Given the description of an element on the screen output the (x, y) to click on. 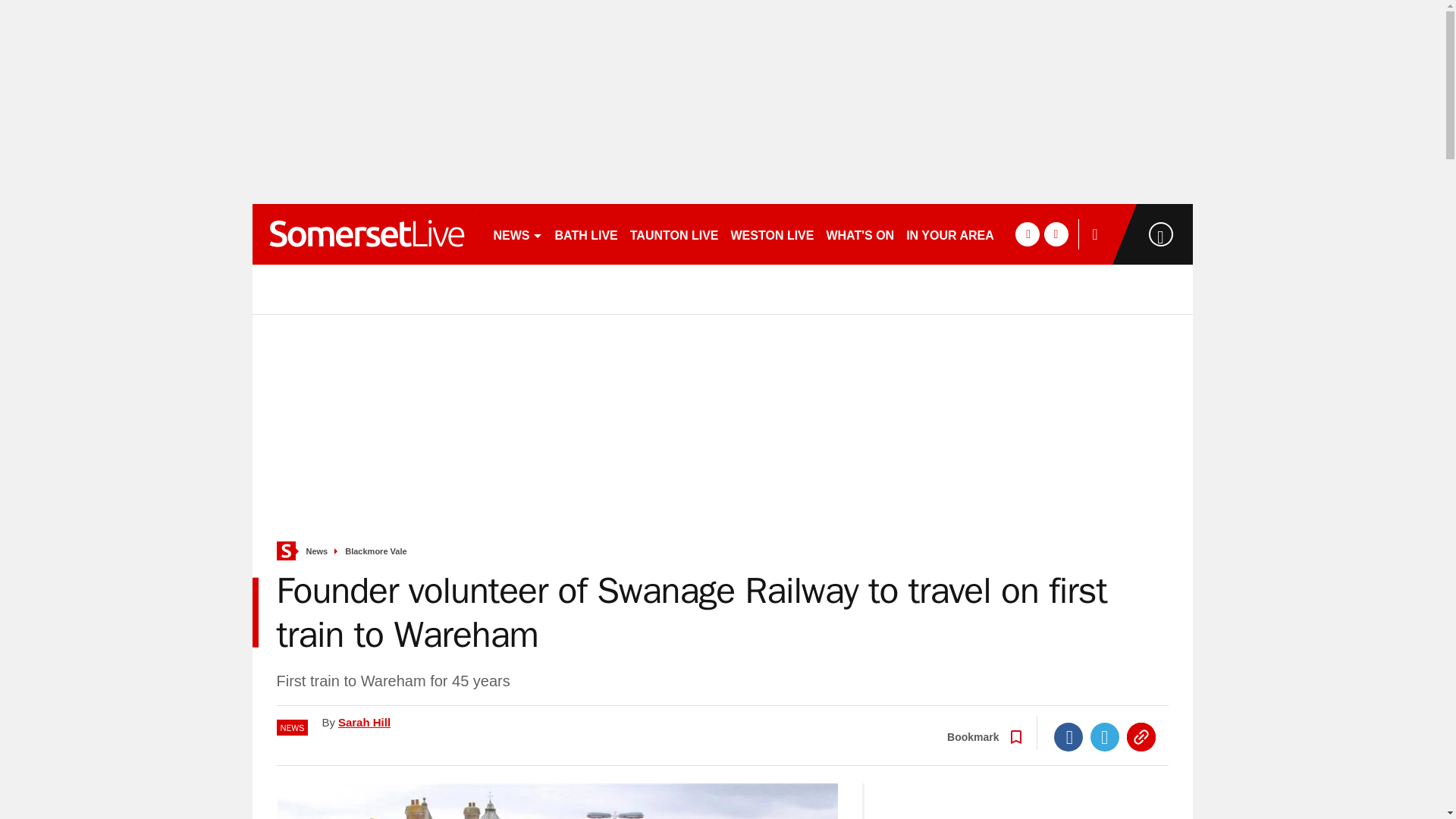
WHAT'S ON (859, 233)
BATH LIVE (586, 233)
twitter (1055, 233)
Facebook (1068, 736)
TAUNTON LIVE (674, 233)
Twitter (1104, 736)
NEWS (517, 233)
IN YOUR AREA (949, 233)
facebook (1026, 233)
somersetlive (365, 233)
